Given the description of an element on the screen output the (x, y) to click on. 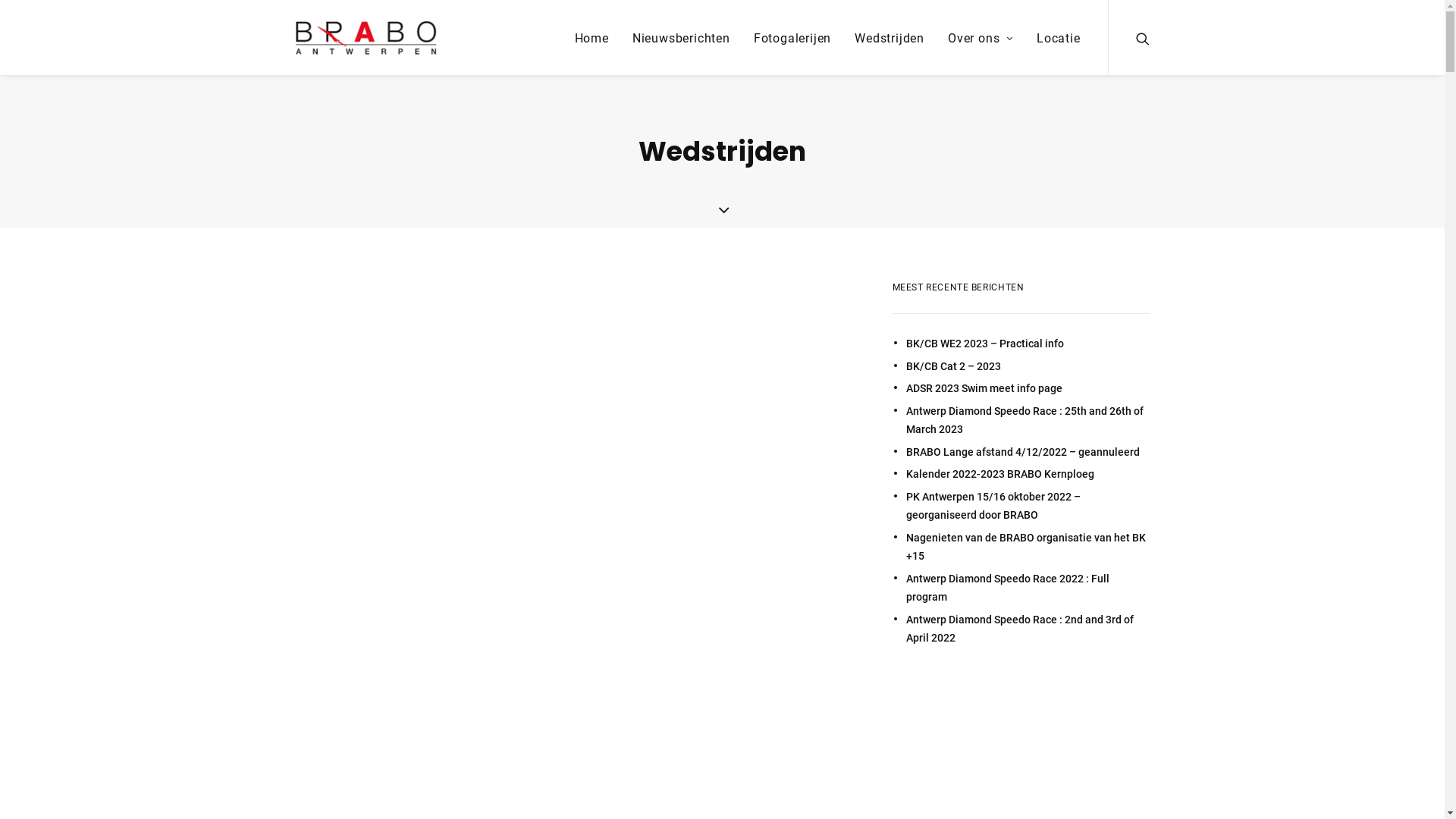
Antwerp Diamond Speedo Race : 25th and 26th of March 2023 Element type: text (1027, 420)
Nieuwsberichten Element type: text (680, 37)
ADSR 2023 Swim meet info page Element type: text (1027, 388)
Nagenieten van de BRABO organisatie van het BK +15 Element type: text (1027, 546)
Locatie Element type: text (1053, 37)
Wedstrijden Element type: text (889, 37)
Over ons Element type: text (980, 37)
Antwerp Diamond Speedo Race 2022 : Full program Element type: text (1027, 587)
Fotogalerijen Element type: text (792, 37)
Home Element type: text (591, 37)
Antwerp Diamond Speedo Race : 2nd and 3rd of April 2022 Element type: text (1027, 628)
Kalender 2022-2023 BRABO Kernploeg Element type: text (1027, 473)
